Given the description of an element on the screen output the (x, y) to click on. 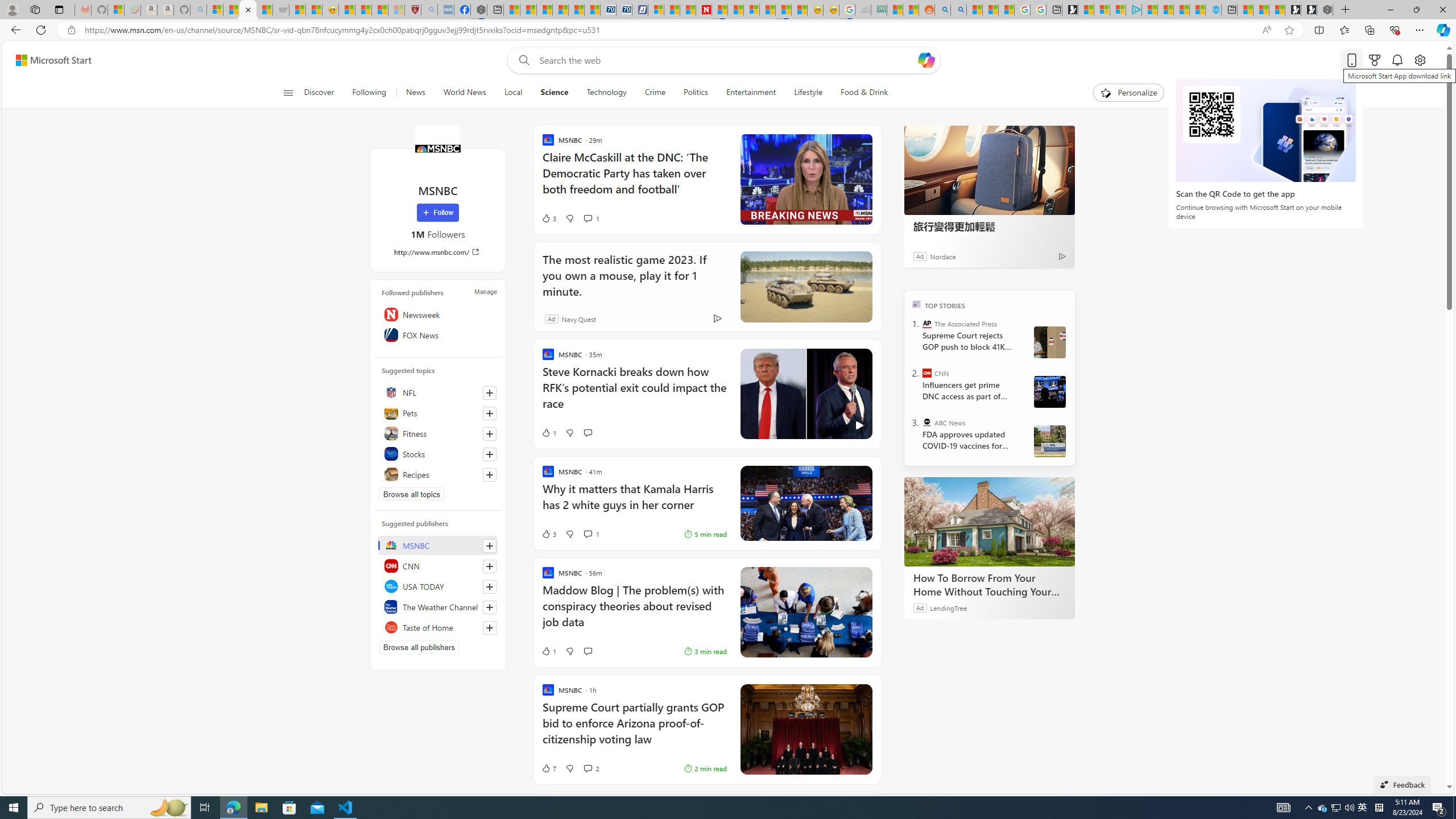
Pets (437, 412)
